Given the description of an element on the screen output the (x, y) to click on. 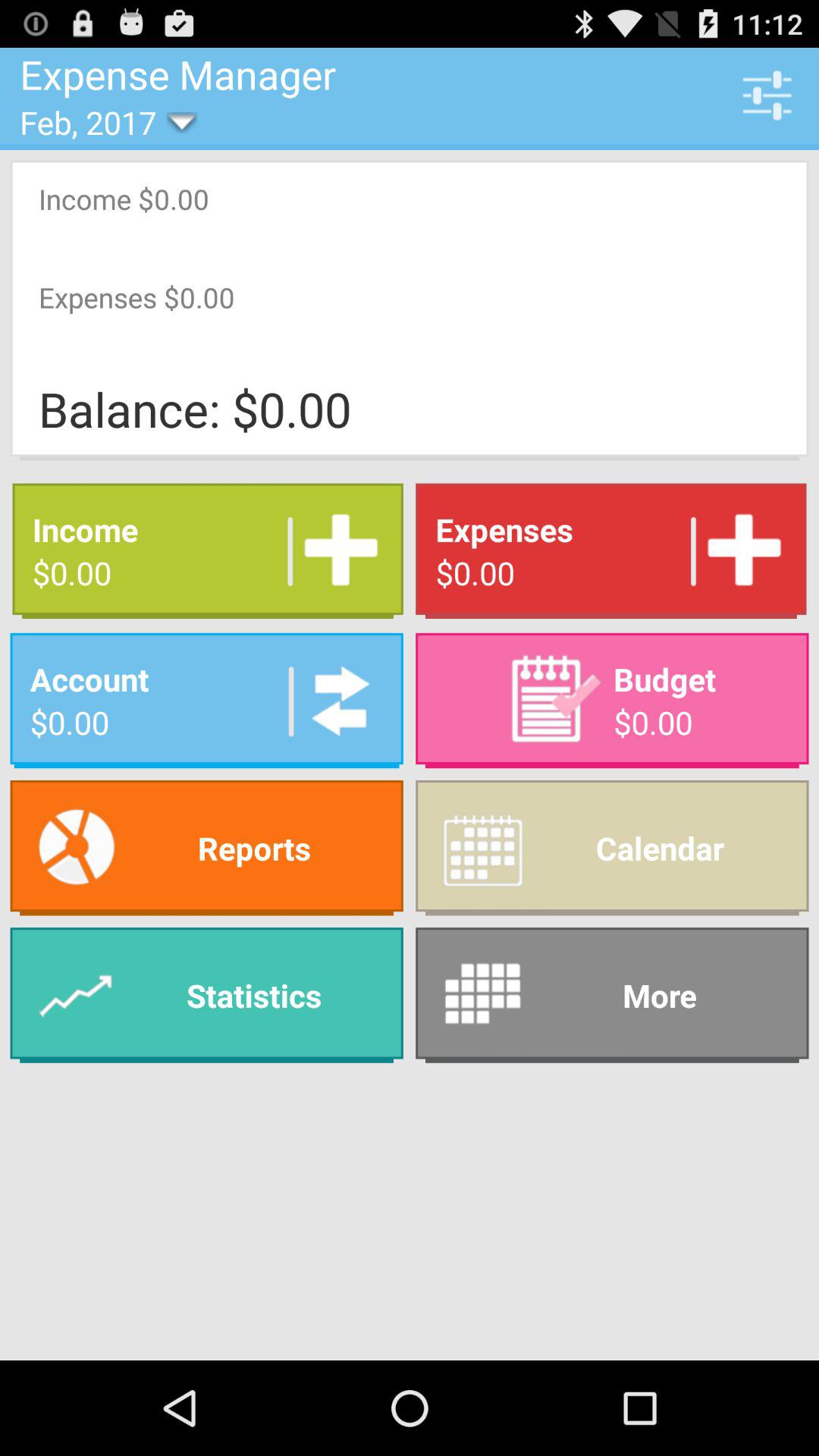
select app at the bottom right corner (611, 994)
